Given the description of an element on the screen output the (x, y) to click on. 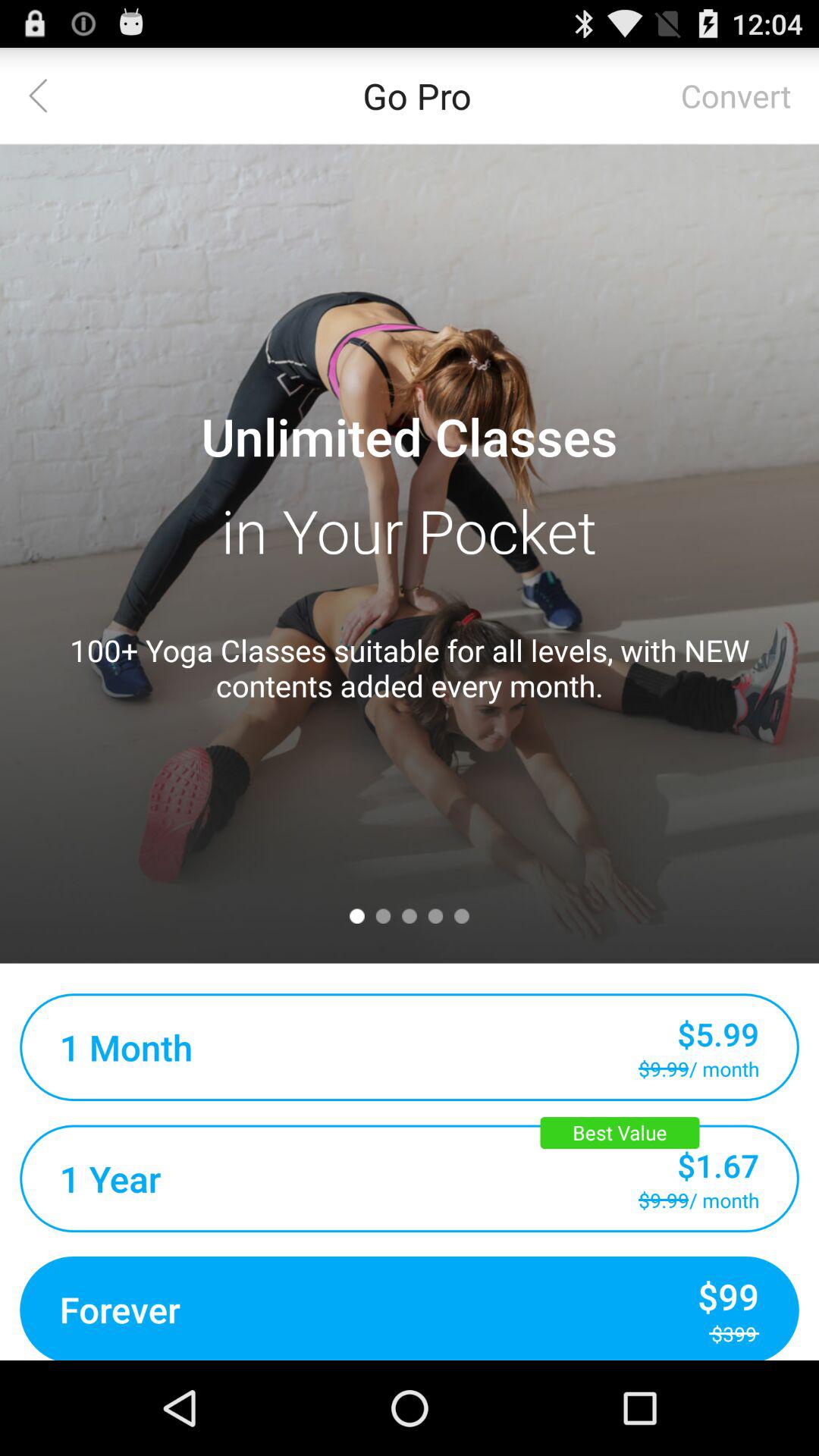
launch the icon next to the go pro (47, 95)
